Given the description of an element on the screen output the (x, y) to click on. 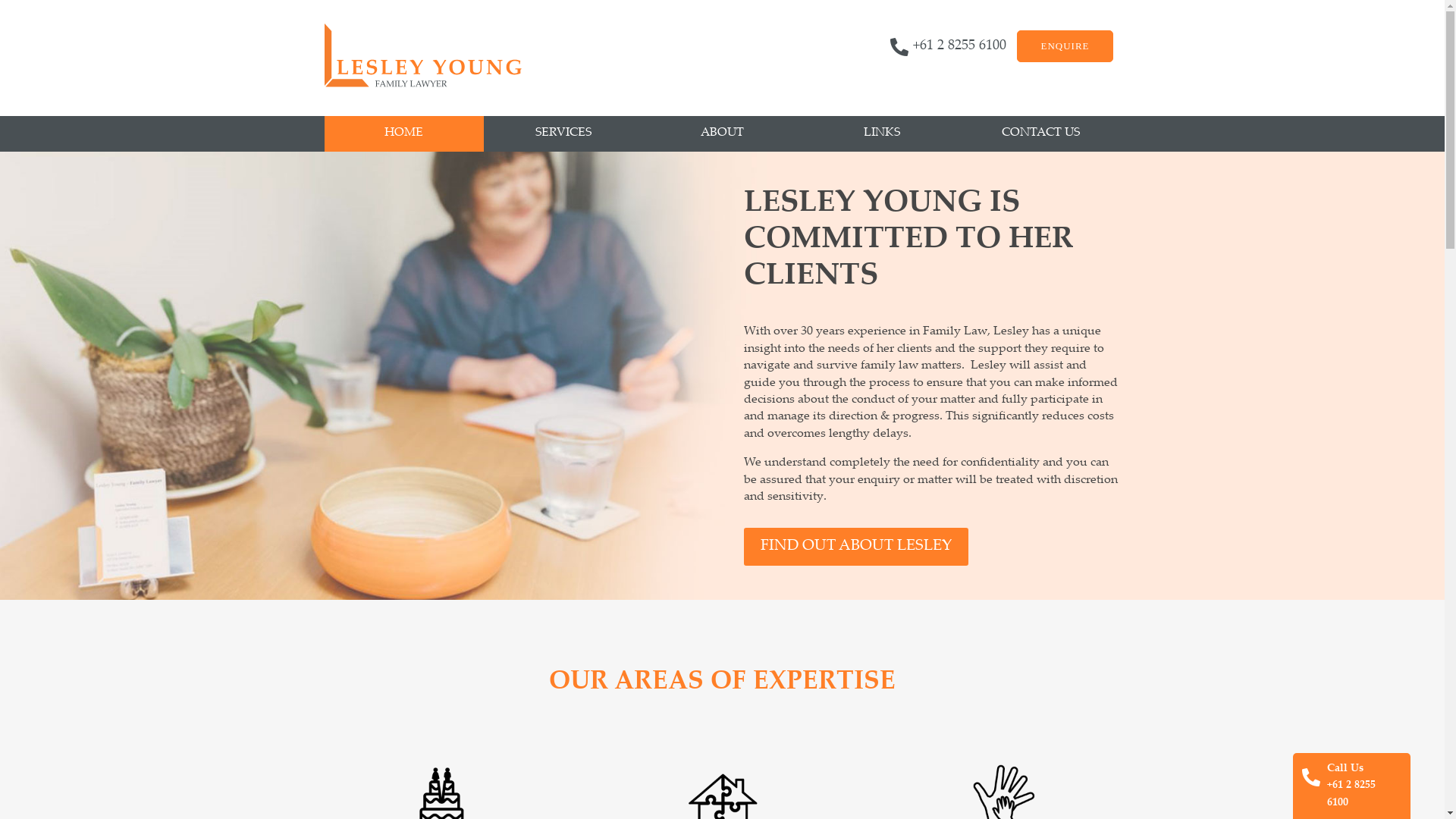
LINKS Element type: text (881, 133)
+61 2 8255 6100 Element type: text (959, 46)
FIND OUT ABOUT LESLEY Element type: text (855, 546)
HOME Element type: text (403, 133)
SERVICES Element type: text (563, 133)
ABOUT Element type: text (722, 133)
CONTACT US Element type: text (1040, 133)
Call Us
+61 2 8255 6100 Element type: text (1363, 785)
ENQUIRE Element type: text (1064, 46)
